Given the description of an element on the screen output the (x, y) to click on. 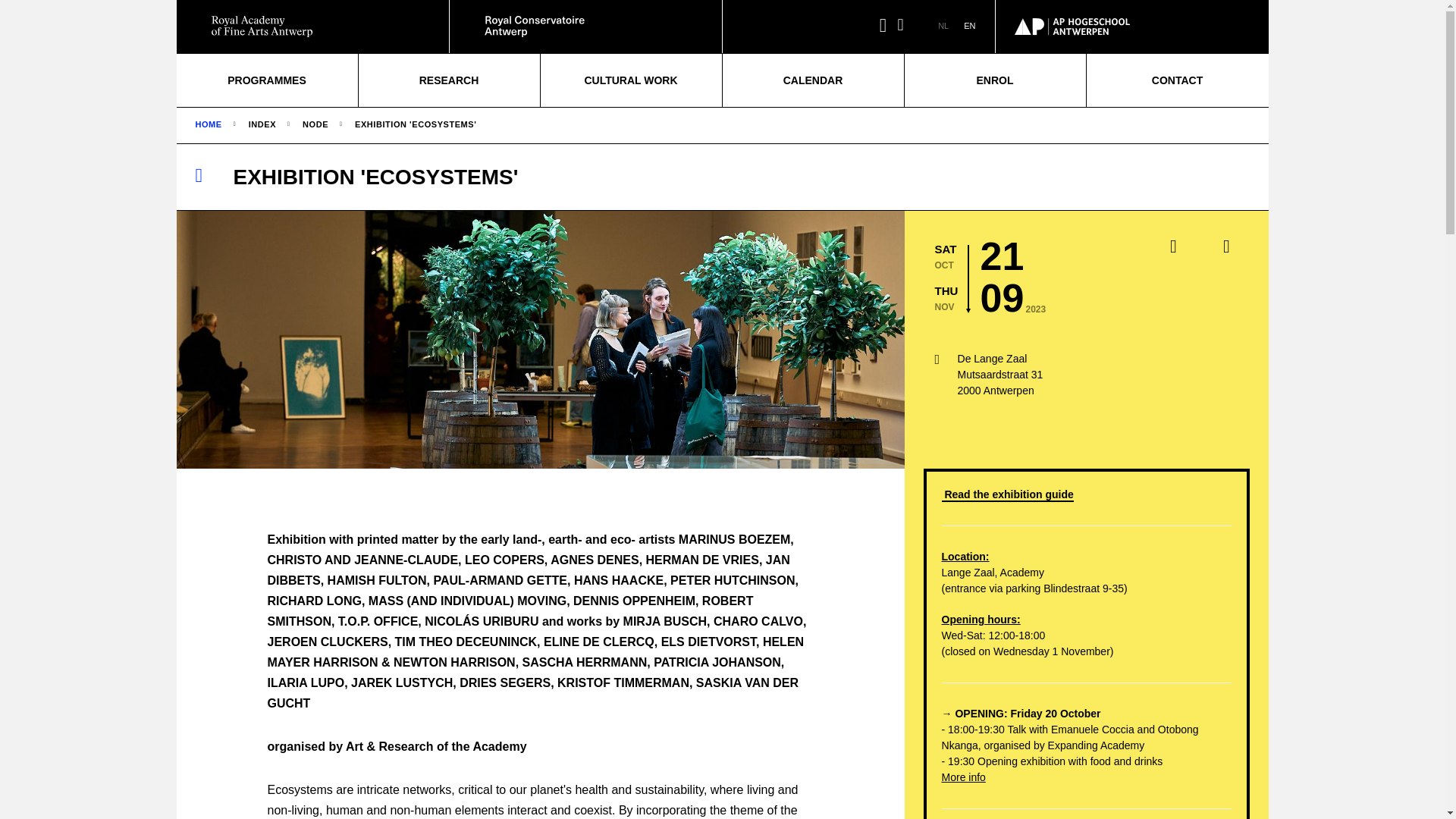
CULTURAL WORK (630, 80)
ENROL (994, 80)
EN (969, 25)
NL (943, 25)
PROGRAMMES (266, 80)
CONTACT (1177, 80)
RESEARCH (448, 80)
CALENDAR (812, 80)
